Given the description of an element on the screen output the (x, y) to click on. 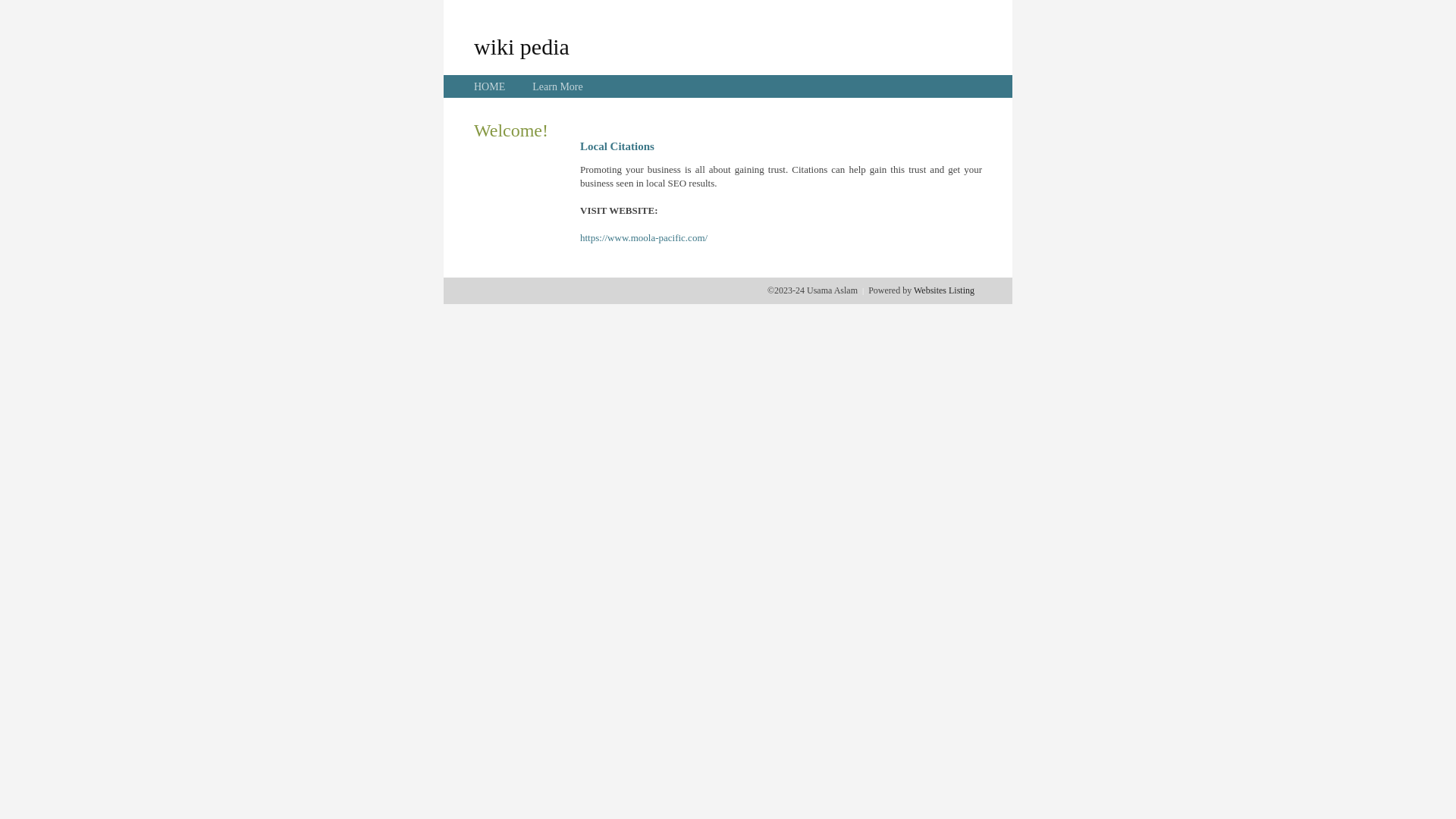
https://www.moola-pacific.com/ Element type: text (643, 237)
wiki pedia Element type: text (521, 46)
Learn More Element type: text (557, 86)
Websites Listing Element type: text (943, 290)
HOME Element type: text (489, 86)
